Given the description of an element on the screen output the (x, y) to click on. 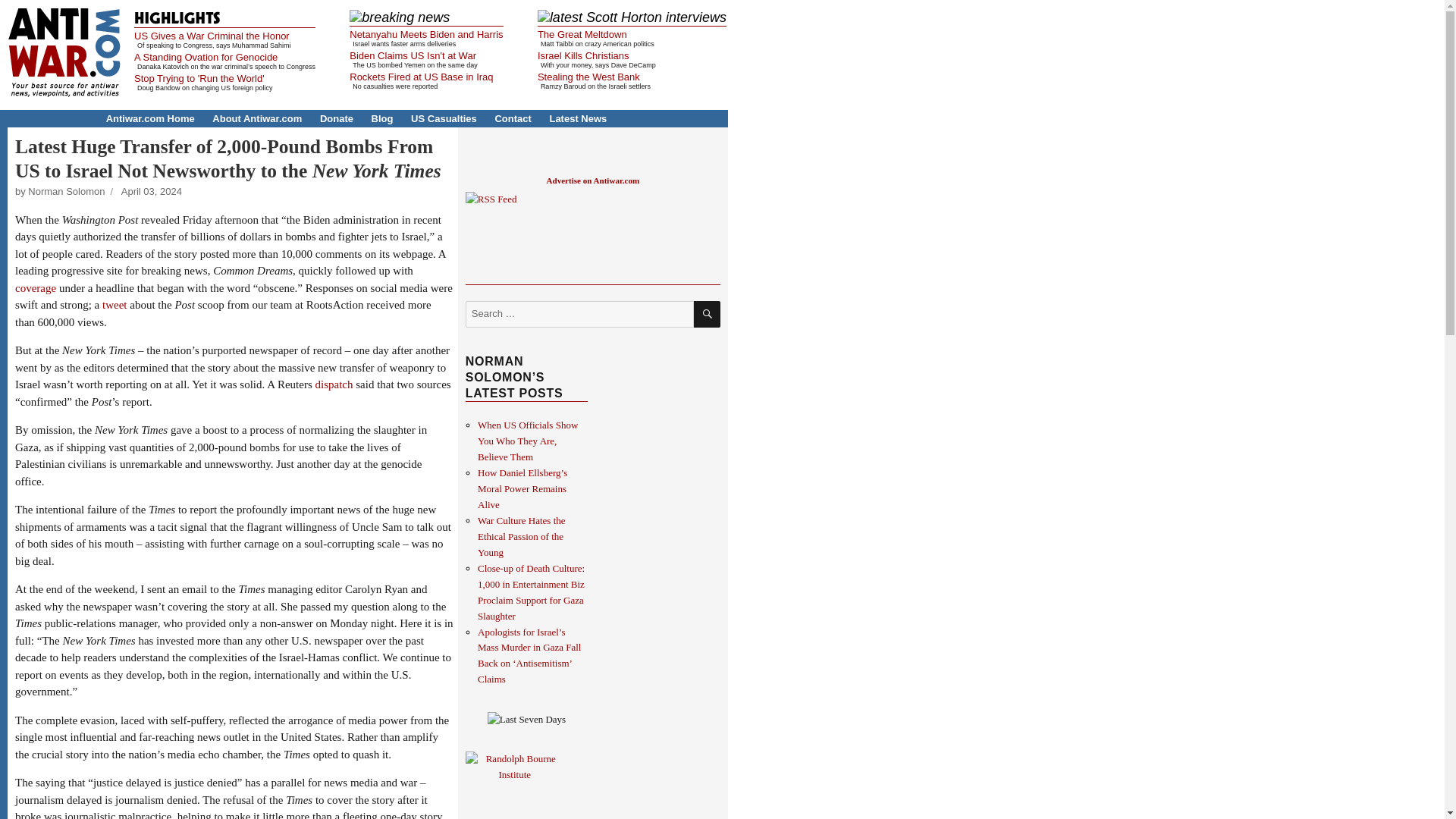
Blog (382, 118)
Norman Solomon (65, 191)
US Casualties (443, 118)
Rockets Fired at US Base in Iraq (421, 76)
Antiwar.com Home (150, 118)
The Great Meltdown (582, 34)
When US Officials Show You Who They Are, Believe Them (527, 440)
Israel Kills Christians (582, 55)
Netanyahu Meets Biden and Harris (425, 34)
Donate (336, 118)
April 03, 2024 (151, 191)
dispatch (334, 384)
coverage (35, 287)
Posts by Norman Solomon (65, 191)
A Standing Ovation for Genocide (205, 57)
